Given the description of an element on the screen output the (x, y) to click on. 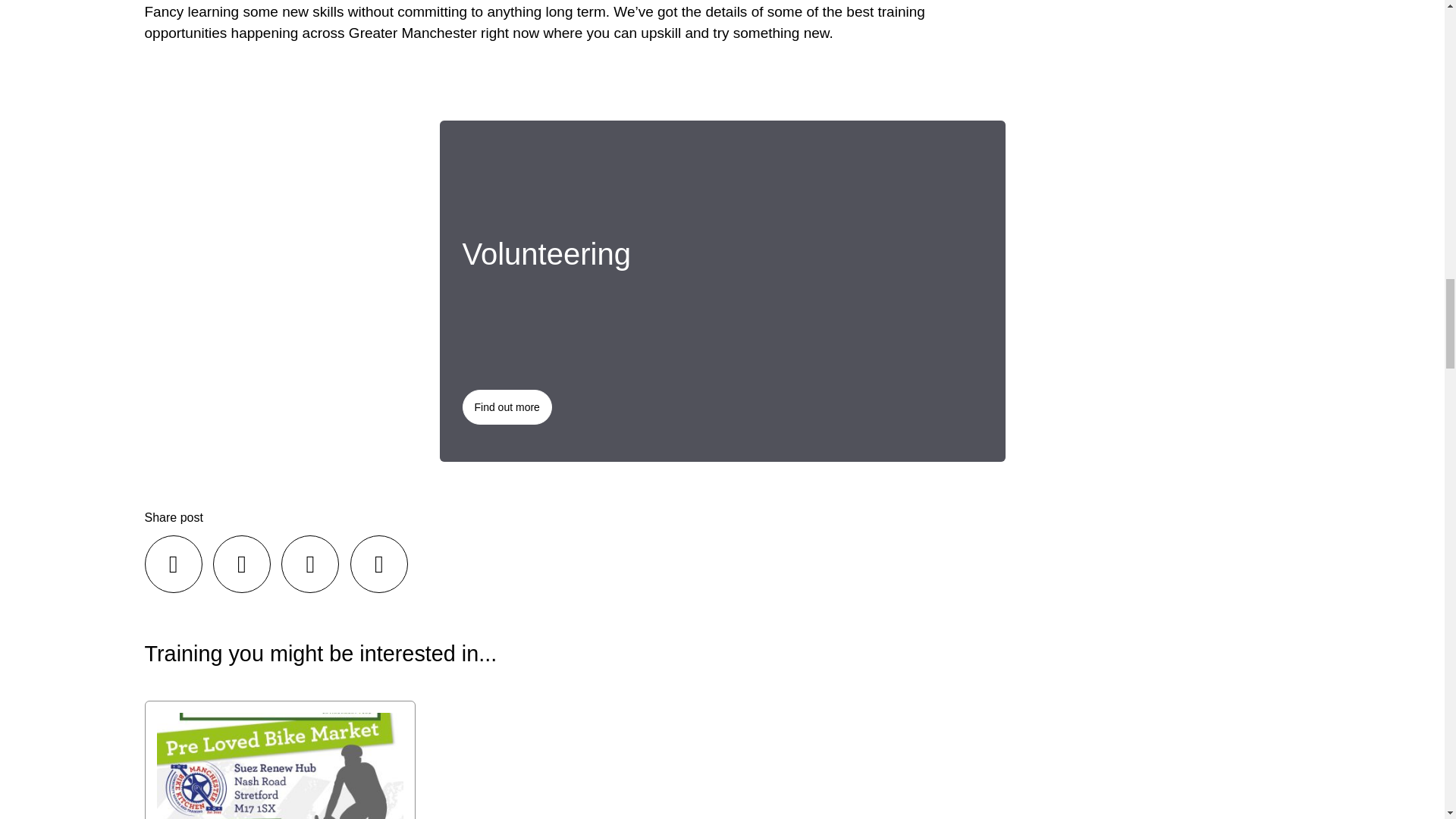
Share on Facebook (173, 563)
Share on X (241, 563)
Copy Link (378, 563)
Share via Email (310, 563)
